Given the description of an element on the screen output the (x, y) to click on. 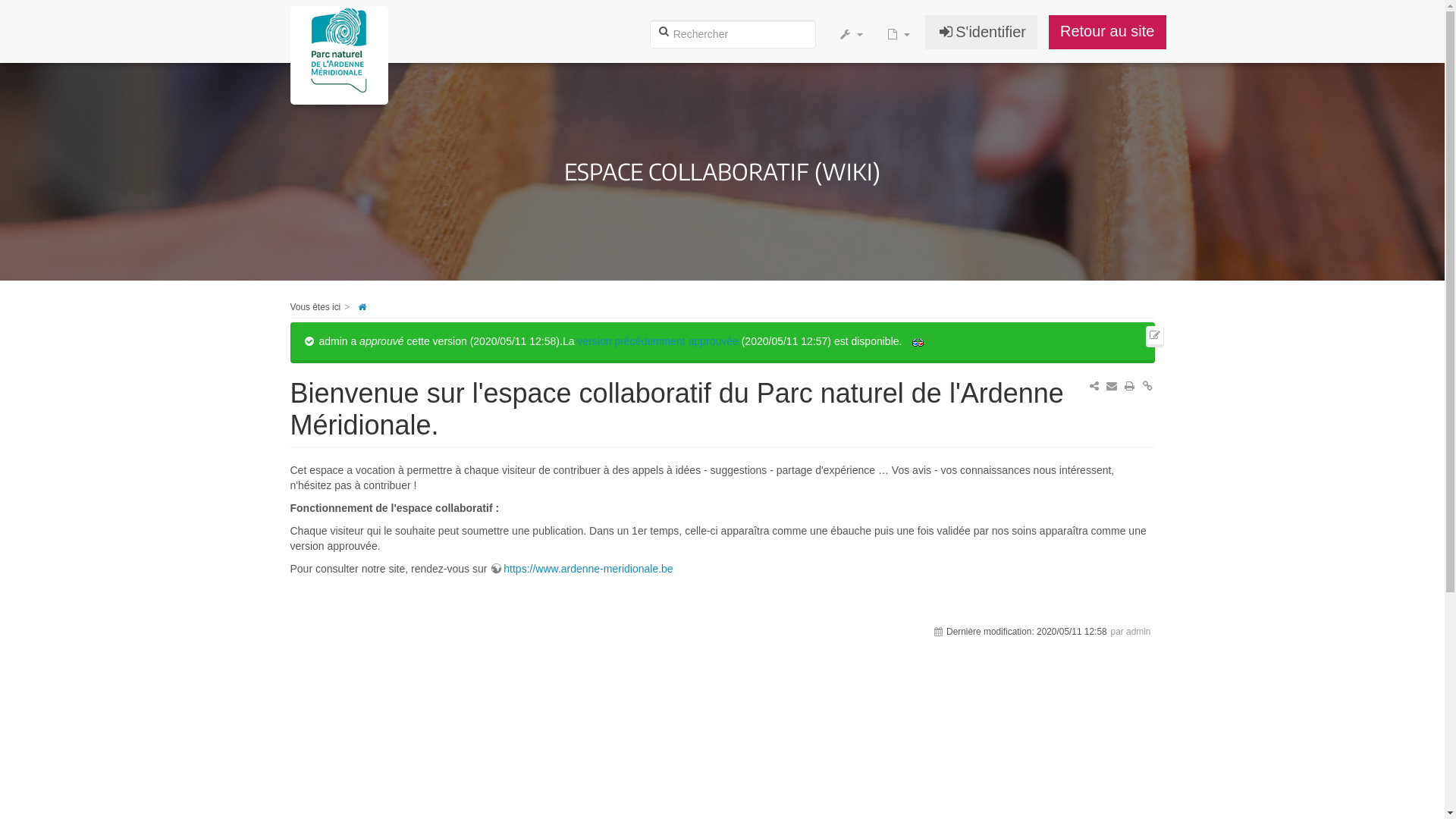
Envoyer courriel Element type: hover (1111, 385)
[F] Element type: hover (732, 33)
https://www.ardenne-meridionale.be Element type: text (580, 568)
start Element type: hover (361, 306)
S'identifier Element type: text (981, 32)
Ajouter une nouvelle page Element type: hover (897, 34)
Permalink Element type: hover (1147, 385)
Modifier cette page Element type: text (1154, 335)
Rechercher Element type: hover (663, 30)
Partager sur ... Element type: hover (1094, 385)
[H] Element type: hover (343, 34)
Retour au site Element type: text (1107, 32)
Imprimer Element type: hover (1129, 385)
